Given the description of an element on the screen output the (x, y) to click on. 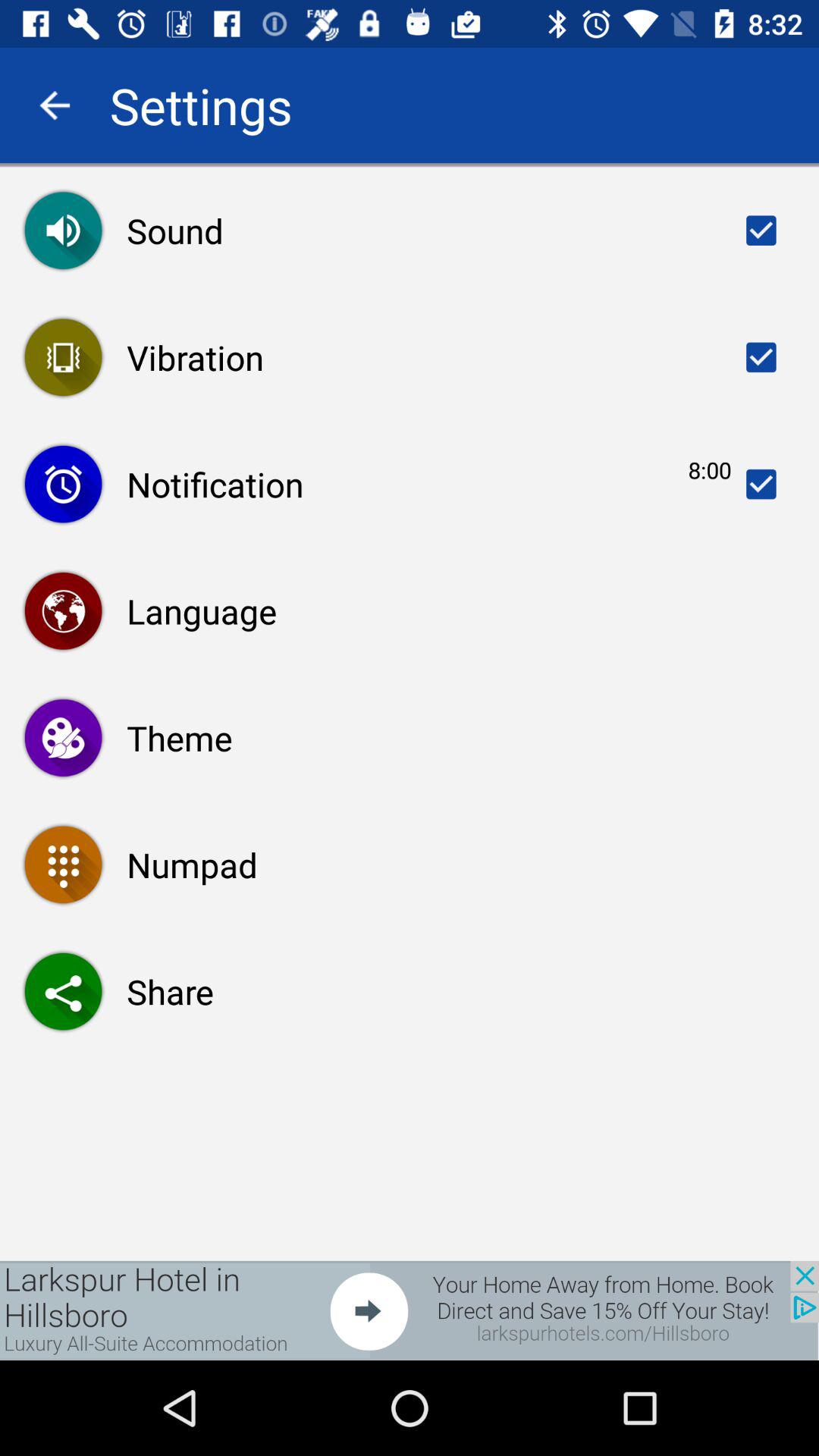
go to option (761, 484)
